Given the description of an element on the screen output the (x, y) to click on. 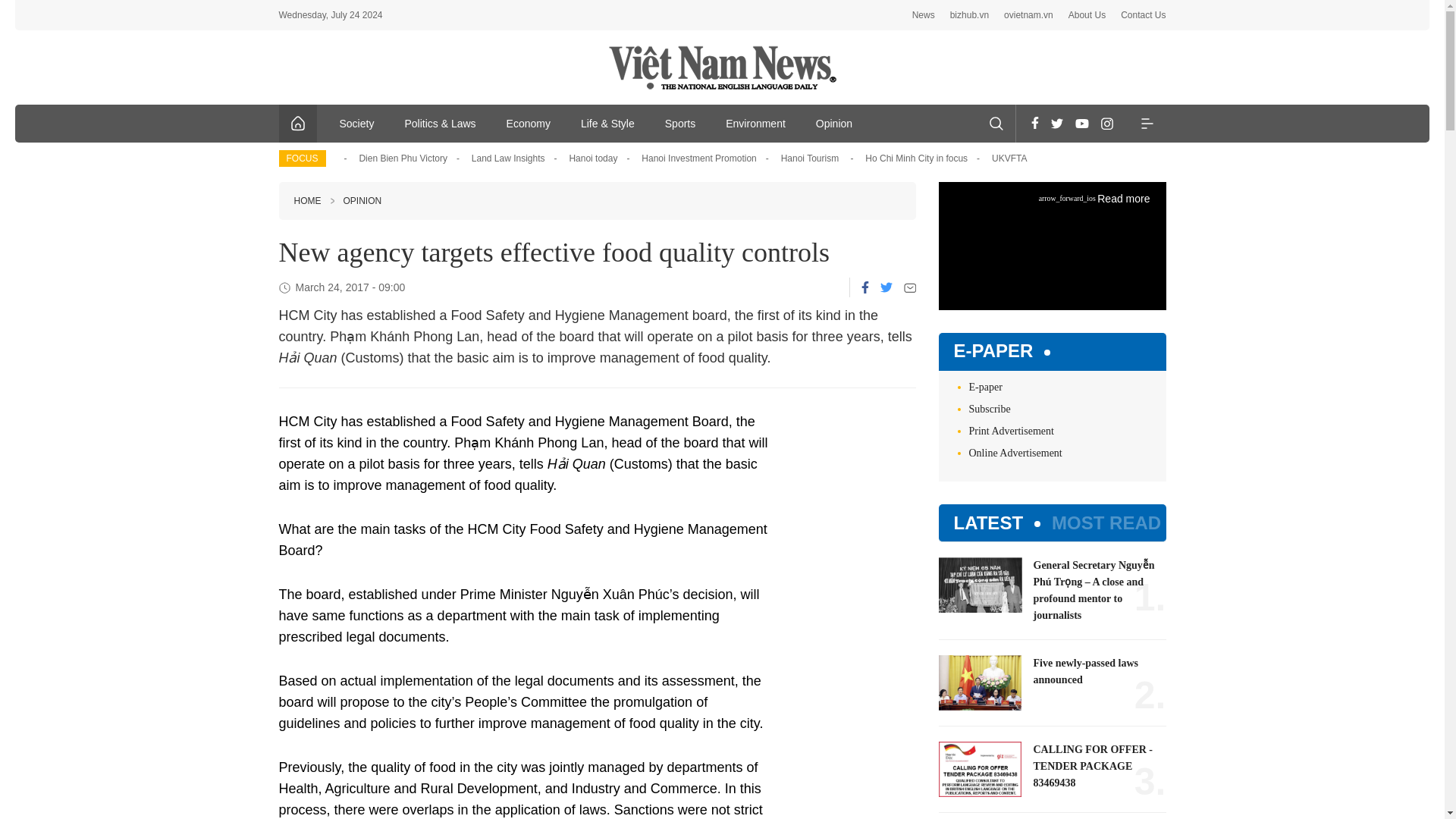
Email (909, 286)
Twitter (1056, 122)
Environment (755, 123)
Society (357, 123)
Contact Us (1143, 15)
ovietnam.vn (1028, 15)
bizhub.vn (969, 15)
Youtube (1081, 122)
Twitter (885, 286)
Facebook (1035, 123)
Sports (679, 123)
Opinion (833, 123)
Economy (529, 123)
Instagram (1106, 123)
News (923, 15)
